Given the description of an element on the screen output the (x, y) to click on. 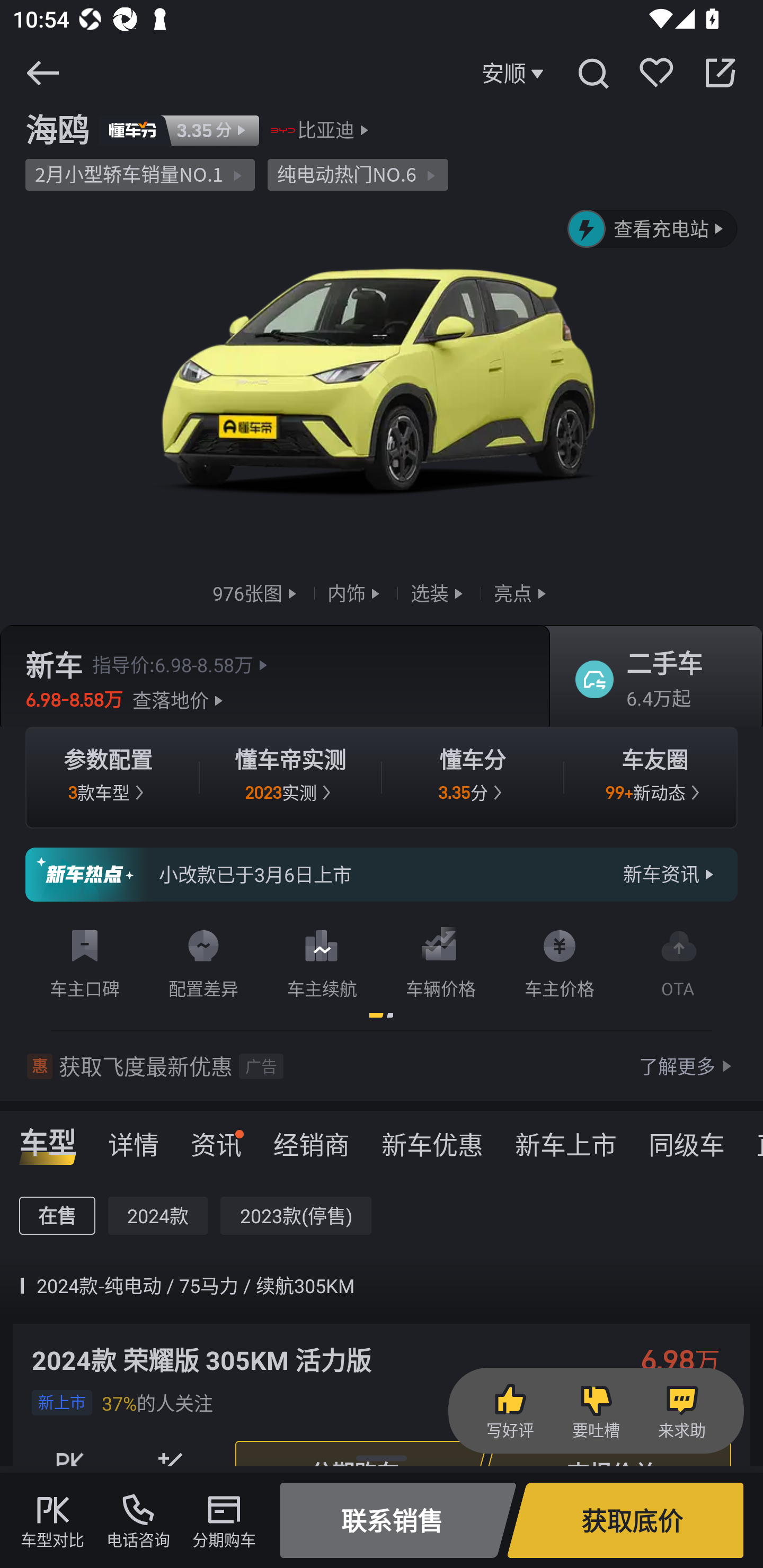
 (42, 72)
 (592, 72)
 (720, 72)
安顺 (514, 73)
比亚迪 (325, 130)
2月小型轿车销量NO.1  (139, 174)
纯电动热门NO.6  (357, 174)
查看充电站  (652, 228)
976张图 (256, 592)
内饰 (355, 592)
选装 (438, 592)
亮点 (521, 592)
二手车 6.4万起 (650, 679)
指导价:6.98-8.58万 (182, 664)
查落地价 (180, 699)
参数配置 3 款车型  (107, 777)
懂车帝实测 2023 实测  (290, 777)
懂车分 3.35 分  (472, 777)
车友圈 99+ 新动态  (654, 777)
小改款已于3月6日上市 新车资讯 (381, 874)
车主口碑 (84, 960)
配置差异 (203, 960)
车主续航 (321, 960)
车辆价格 (440, 960)
车主价格 (559, 960)
OTA (677, 960)
惠 获取飞度最新优惠 广告 了解更多  (381, 1065)
车型 (47, 1138)
详情 (133, 1138)
资讯 (215, 1138)
经销商 (311, 1138)
新车优惠 (431, 1138)
新车上市 (565, 1138)
同级车 (686, 1138)
在售 (57, 1215)
2024款 (157, 1215)
2023款(停售) (295, 1215)
写好评 (510, 1410)
要吐槽 (595, 1410)
来求助 (681, 1410)
车型对比 (52, 1520)
电话咨询 (138, 1520)
分期购车 (224, 1520)
联系销售 (398, 1519)
获取底价 (625, 1519)
